Given the description of an element on the screen output the (x, y) to click on. 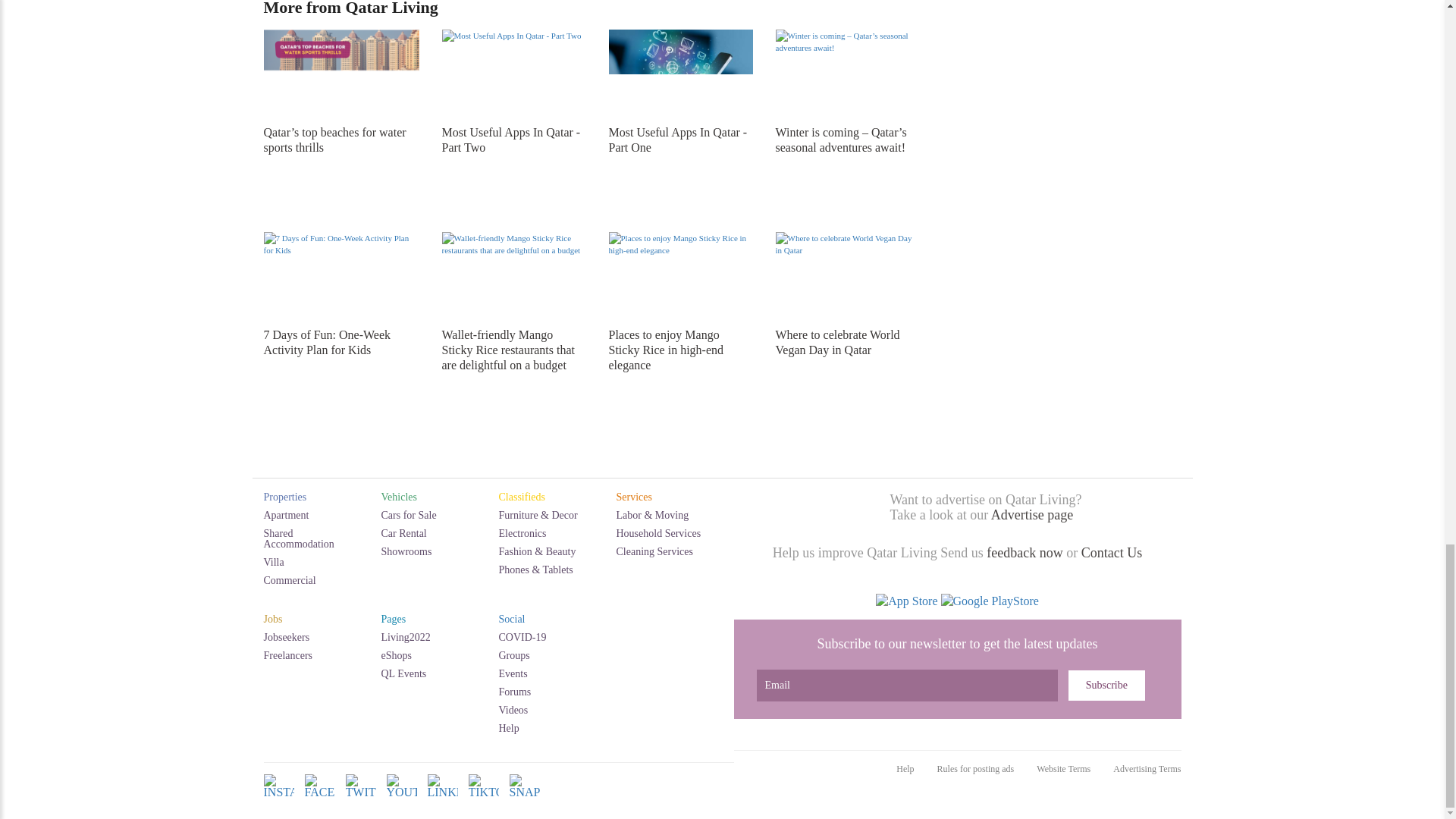
TIKTOK (483, 797)
YOUTUBE (401, 797)
SNAPCHAT (524, 797)
Subscribe (1106, 685)
LINKEDIN (443, 797)
INSTAGRAM (278, 797)
TWITTER (360, 797)
FACEBOOK (319, 797)
